Given the description of an element on the screen output the (x, y) to click on. 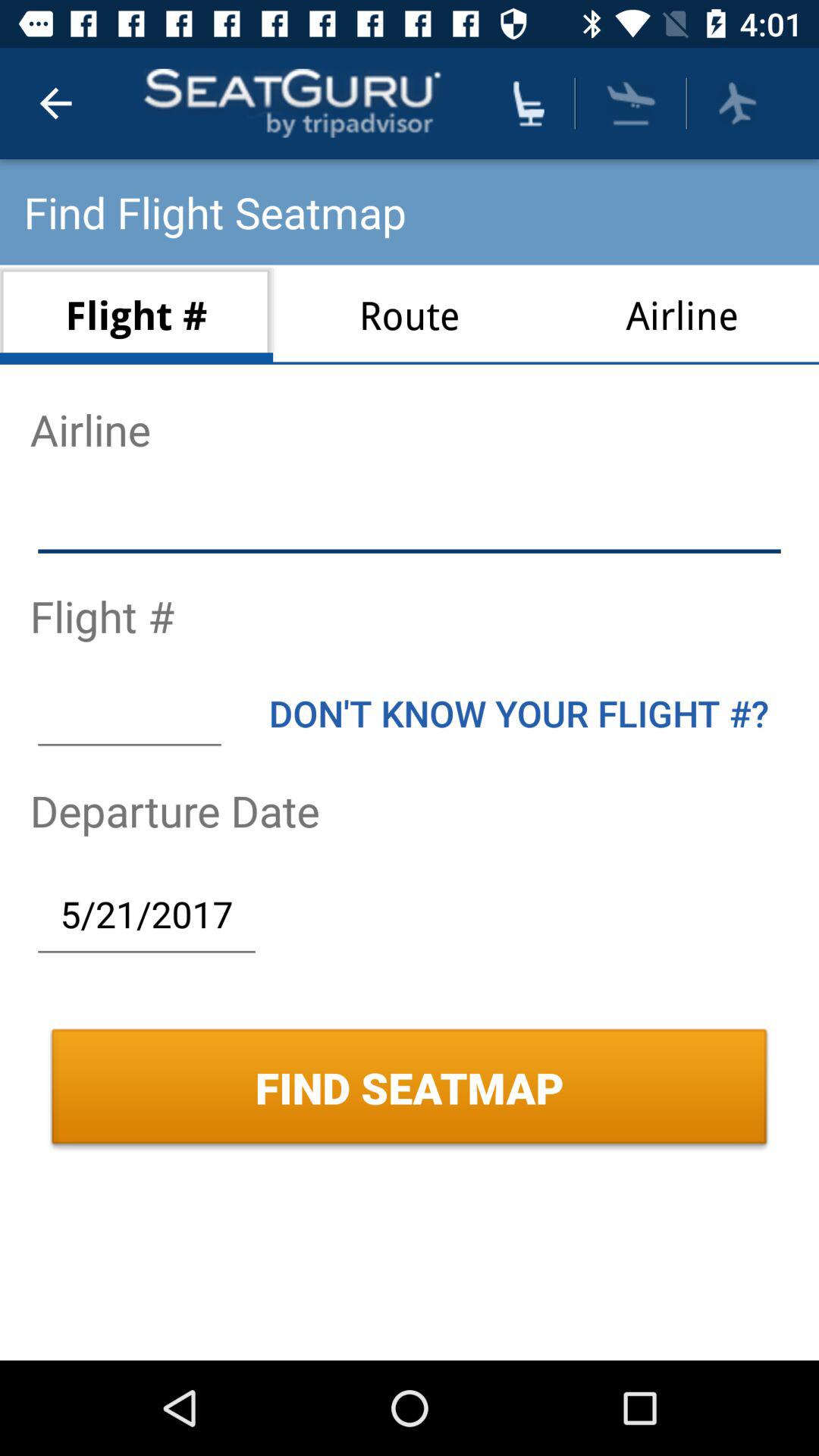
select the icon which is right to the seat icon (631, 102)
go to the route tab (409, 314)
click on the chair icon on the top (529, 102)
select the date below departure date (146, 913)
